Given the description of an element on the screen output the (x, y) to click on. 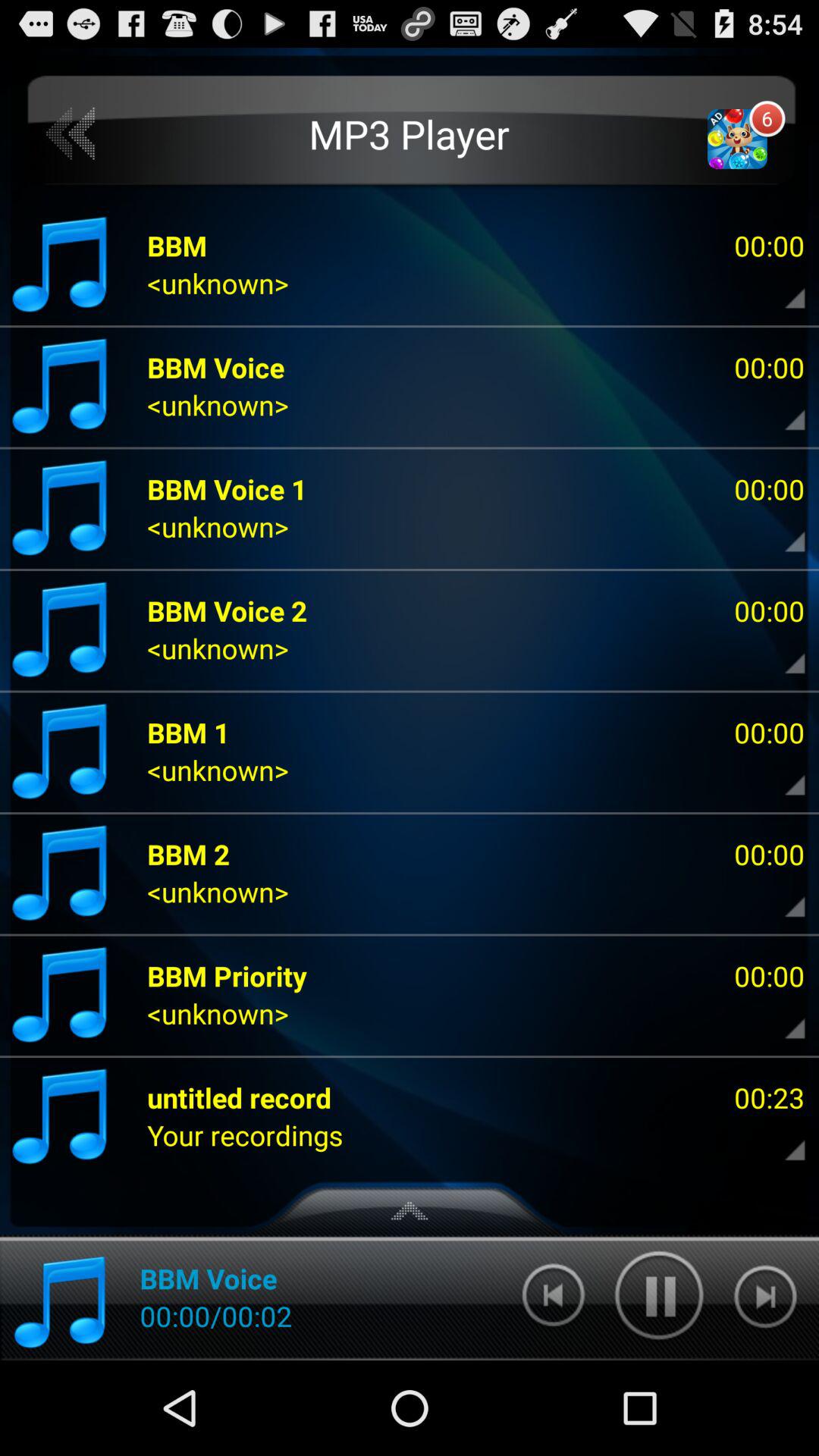
open details (782, 287)
